Given the description of an element on the screen output the (x, y) to click on. 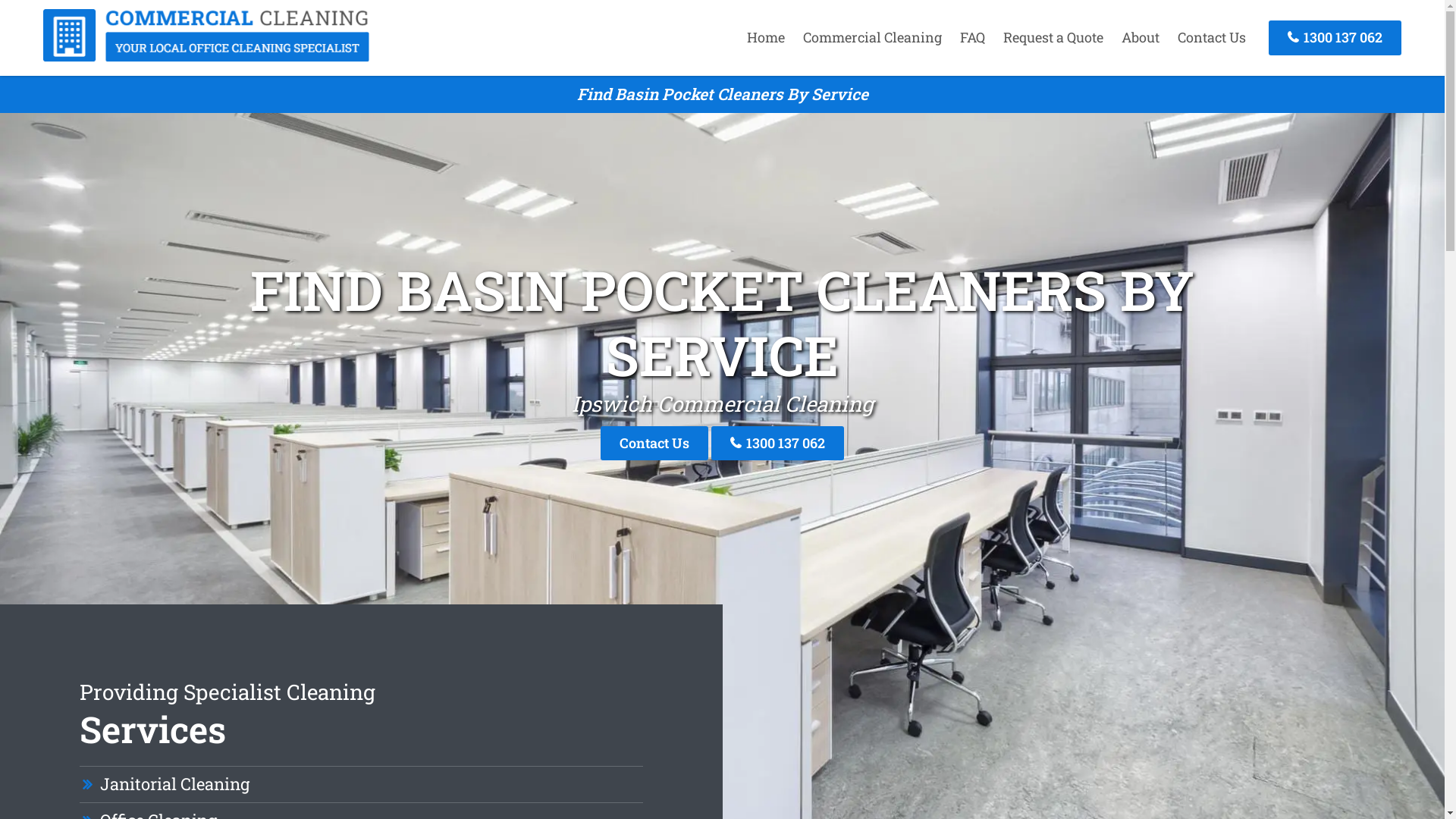
1300 137 062 Element type: text (777, 443)
Commercial Cleaning Element type: text (872, 37)
Contact Us Element type: text (654, 443)
Janitorial Cleaning Element type: text (174, 784)
FAQ Element type: text (972, 37)
Home Element type: text (765, 37)
Contact Us Element type: text (1211, 37)
Commercial Cleaning Element type: hover (206, 56)
1300 137 062 Element type: text (1334, 37)
Request a Quote Element type: text (1052, 37)
About Element type: text (1140, 37)
